Given the description of an element on the screen output the (x, y) to click on. 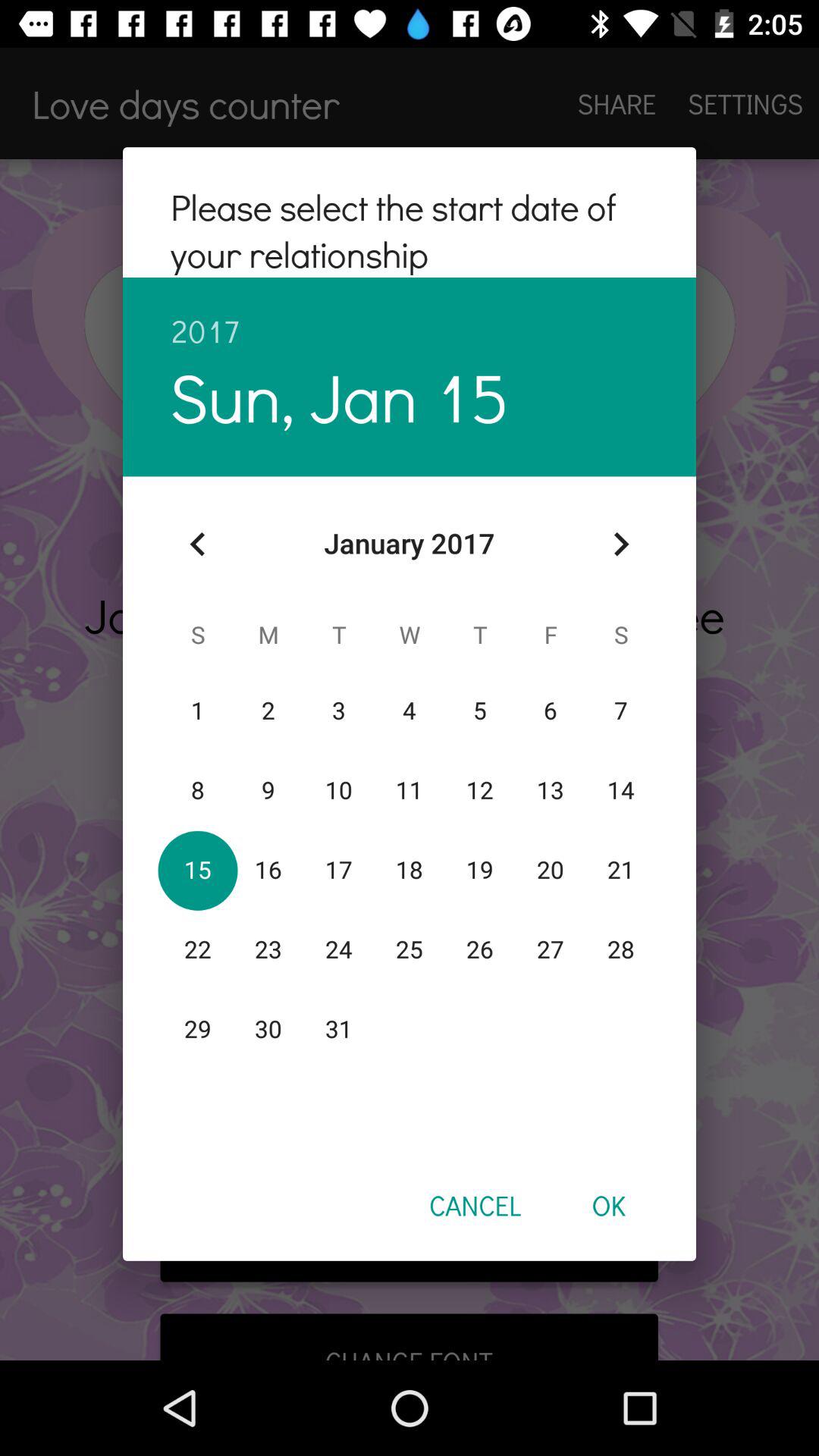
open icon above the ok icon (620, 544)
